Given the description of an element on the screen output the (x, y) to click on. 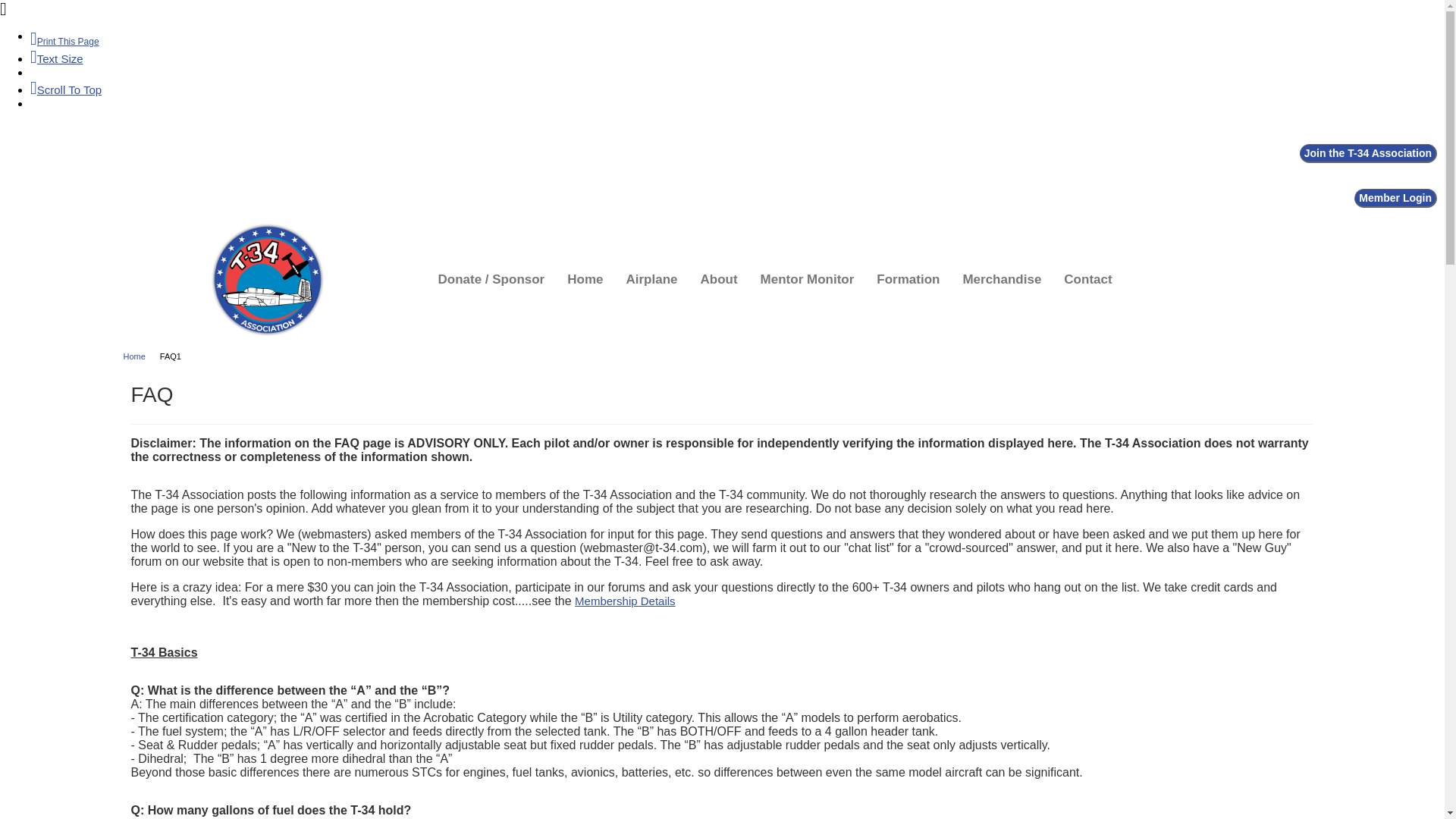
Click here for more sharing options (61, 153)
Visit us on X (39, 153)
Merchandise (1001, 279)
Formation (908, 279)
Join the T-34 Association (1368, 153)
Member Login (1395, 198)
Membership Details (625, 600)
Print (64, 41)
Home (138, 356)
Go To Top (65, 89)
